Given the description of an element on the screen output the (x, y) to click on. 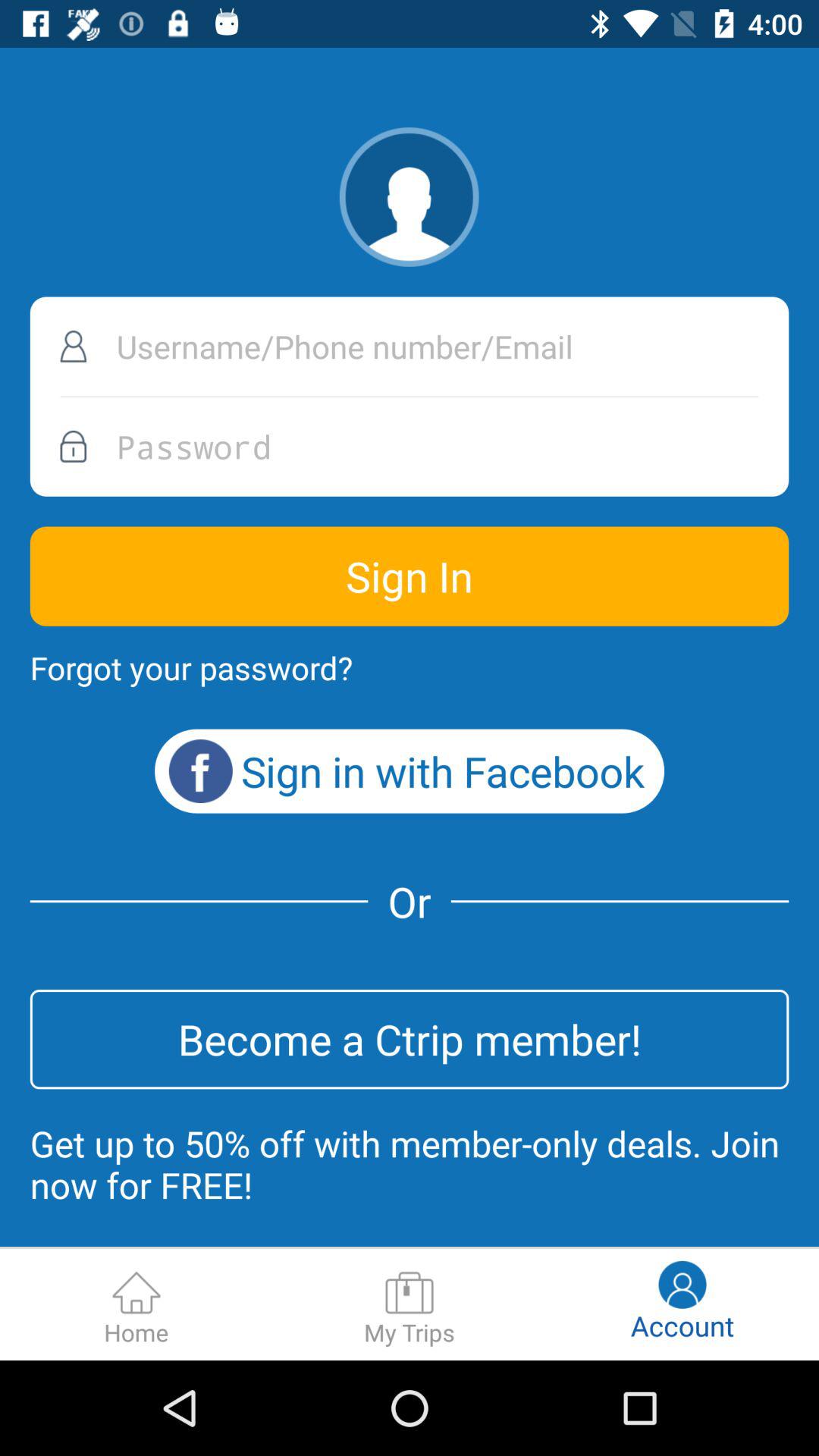
launch the become a ctrip (409, 1039)
